Given the description of an element on the screen output the (x, y) to click on. 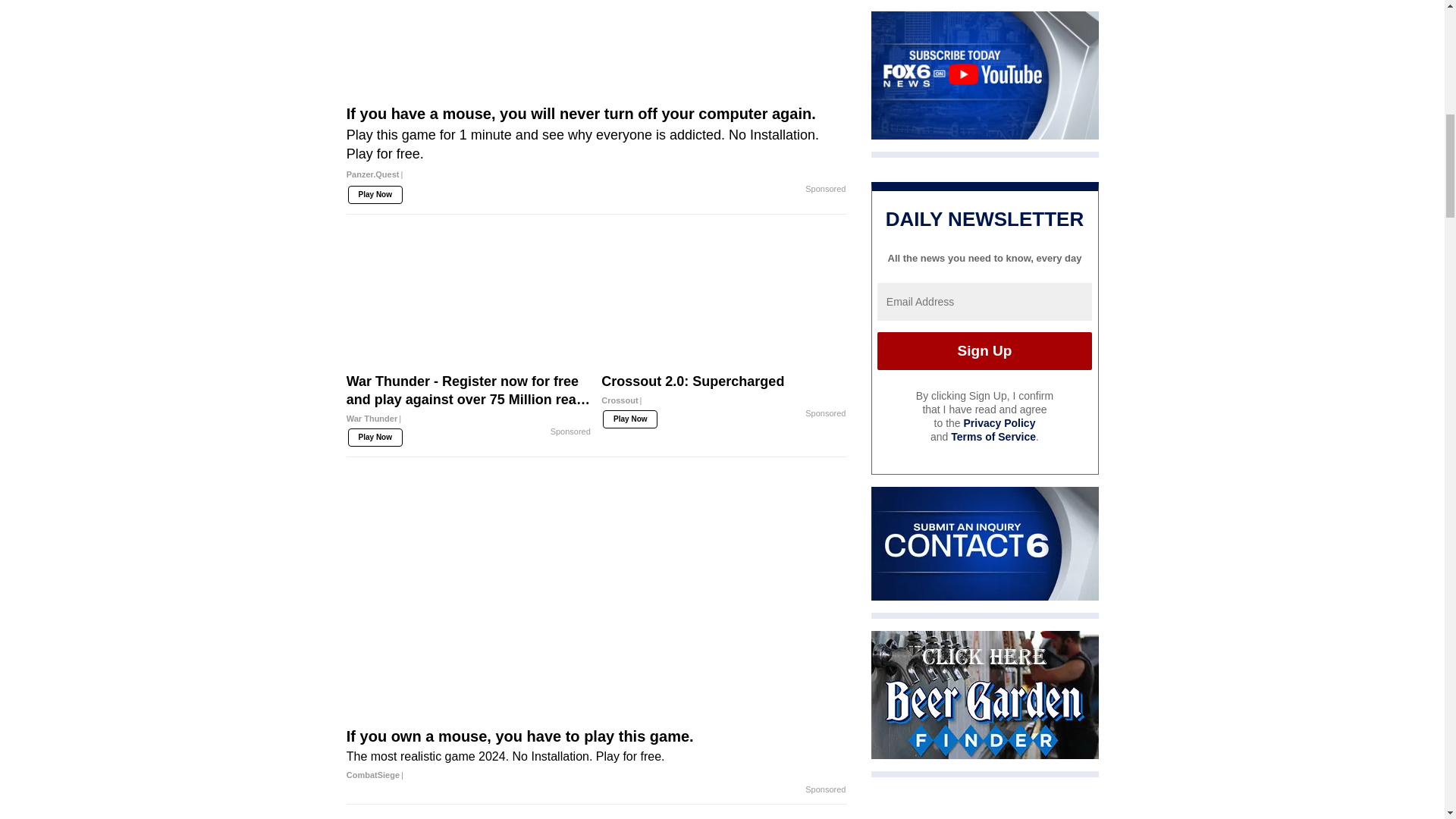
Sign Up (984, 351)
